Given the description of an element on the screen output the (x, y) to click on. 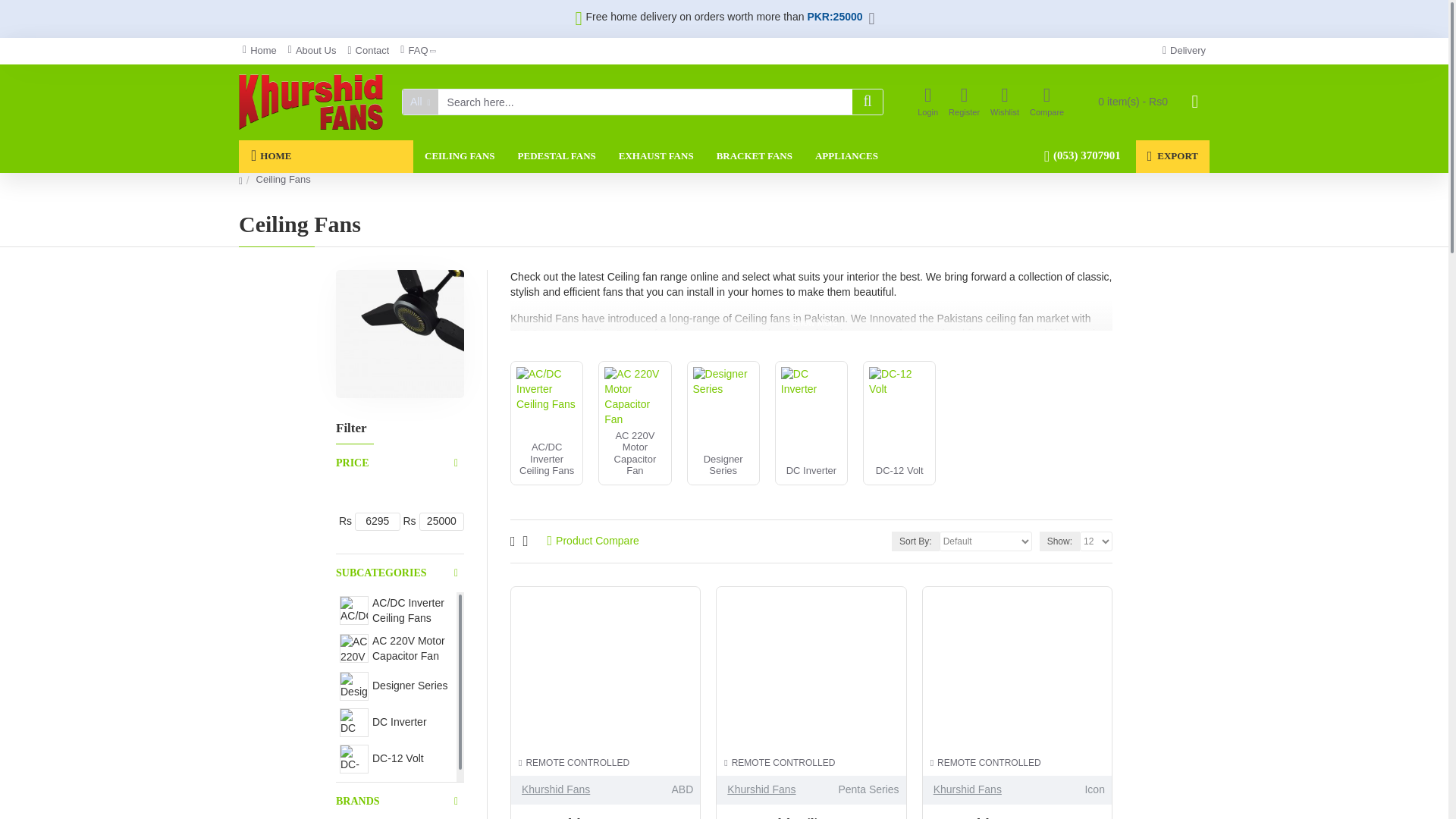
About Us (311, 50)
HOME (325, 156)
CEILING FANS (459, 156)
Delivery (1183, 51)
Contact (368, 50)
Wishlist (1005, 101)
6295 (376, 521)
Register (964, 101)
Designer Series (353, 686)
FAQ (417, 50)
